Given the description of an element on the screen output the (x, y) to click on. 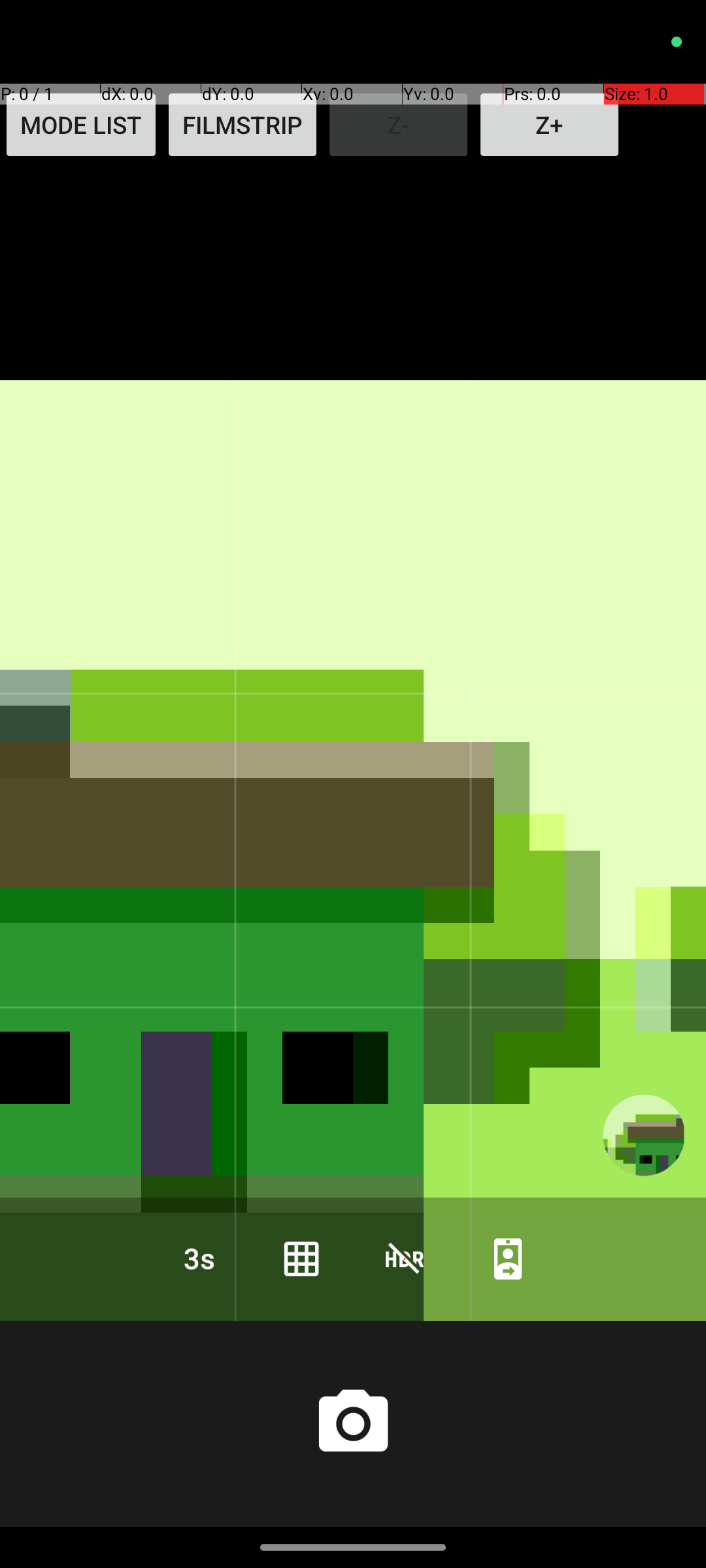
Countdown timer duration is set to 3 seconds Element type: android.widget.ImageButton (197, 1258)
Grid lines on Element type: android.widget.ImageButton (301, 1258)
HDR off Element type: android.widget.ImageButton (404, 1258)
Front camera Element type: android.widget.ImageButton (507, 1258)
